Given the description of an element on the screen output the (x, y) to click on. 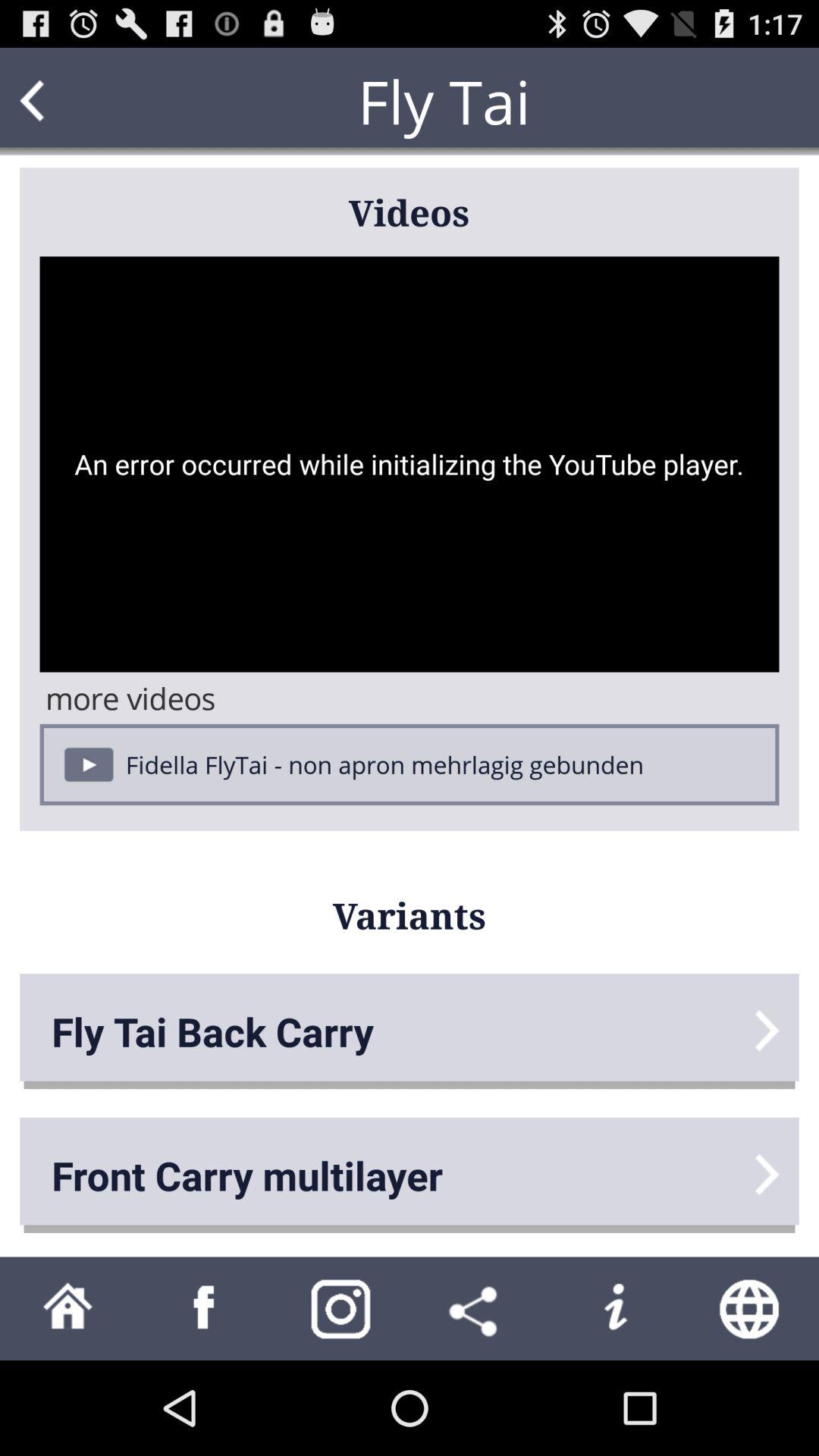
go to home screen (68, 1308)
